Given the description of an element on the screen output the (x, y) to click on. 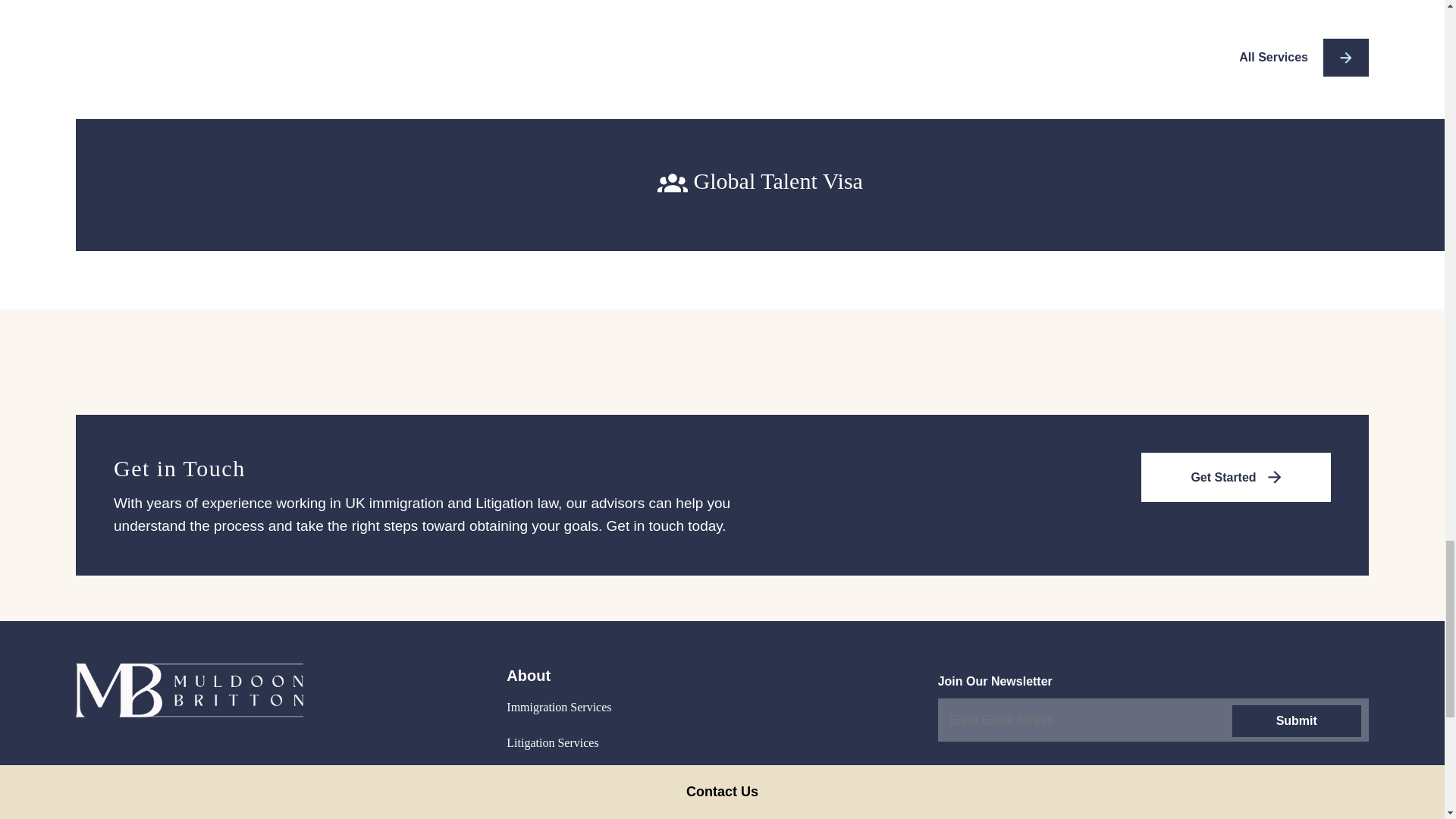
All Services (1303, 57)
Submit (1295, 721)
Global Talent Visa (760, 181)
